Given the description of an element on the screen output the (x, y) to click on. 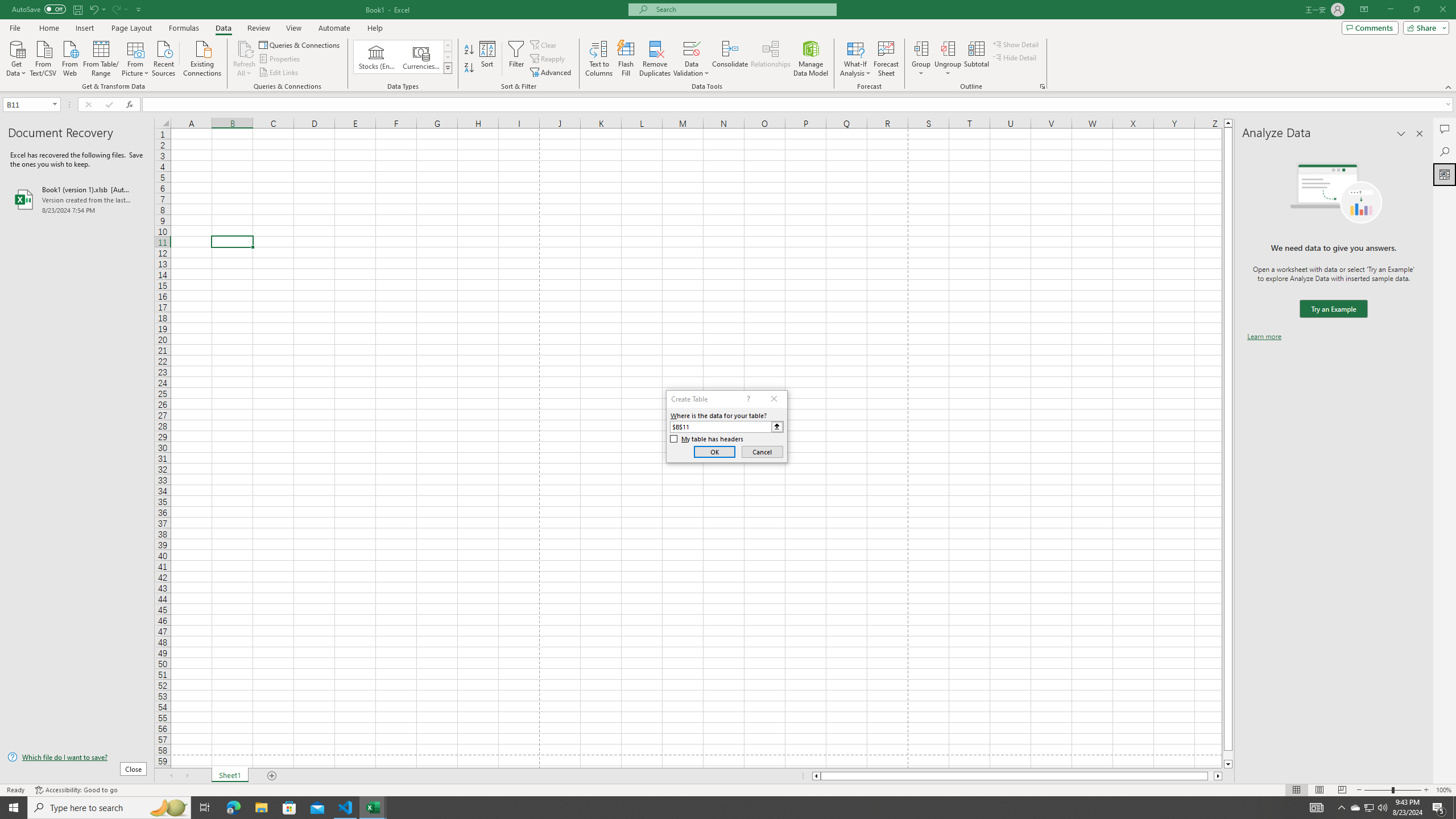
Recent Sources (163, 57)
Relationships (770, 58)
Consolidate... (729, 58)
